Given the description of an element on the screen output the (x, y) to click on. 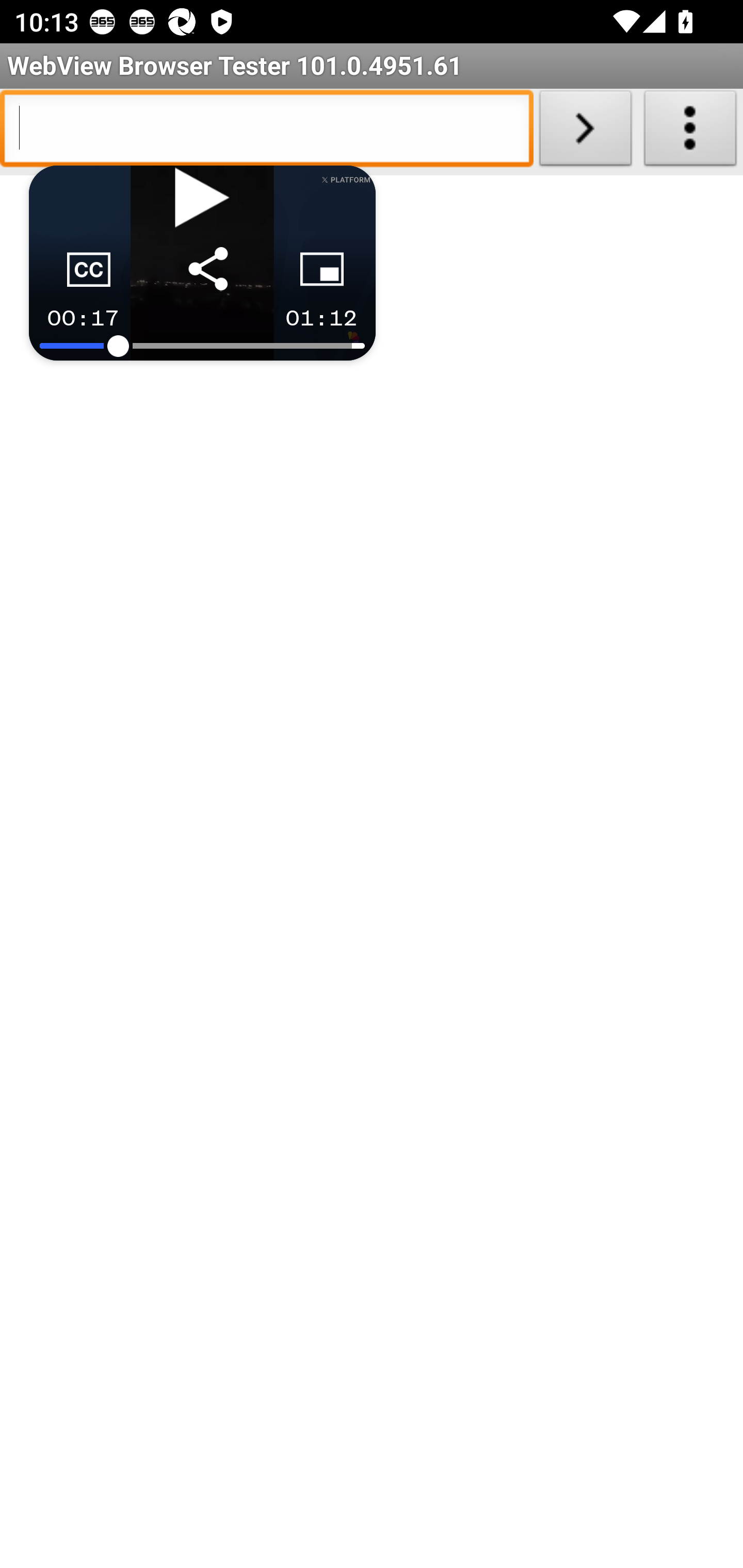
Load URL (585, 132)
About WebView (690, 132)
